Given the description of an element on the screen output the (x, y) to click on. 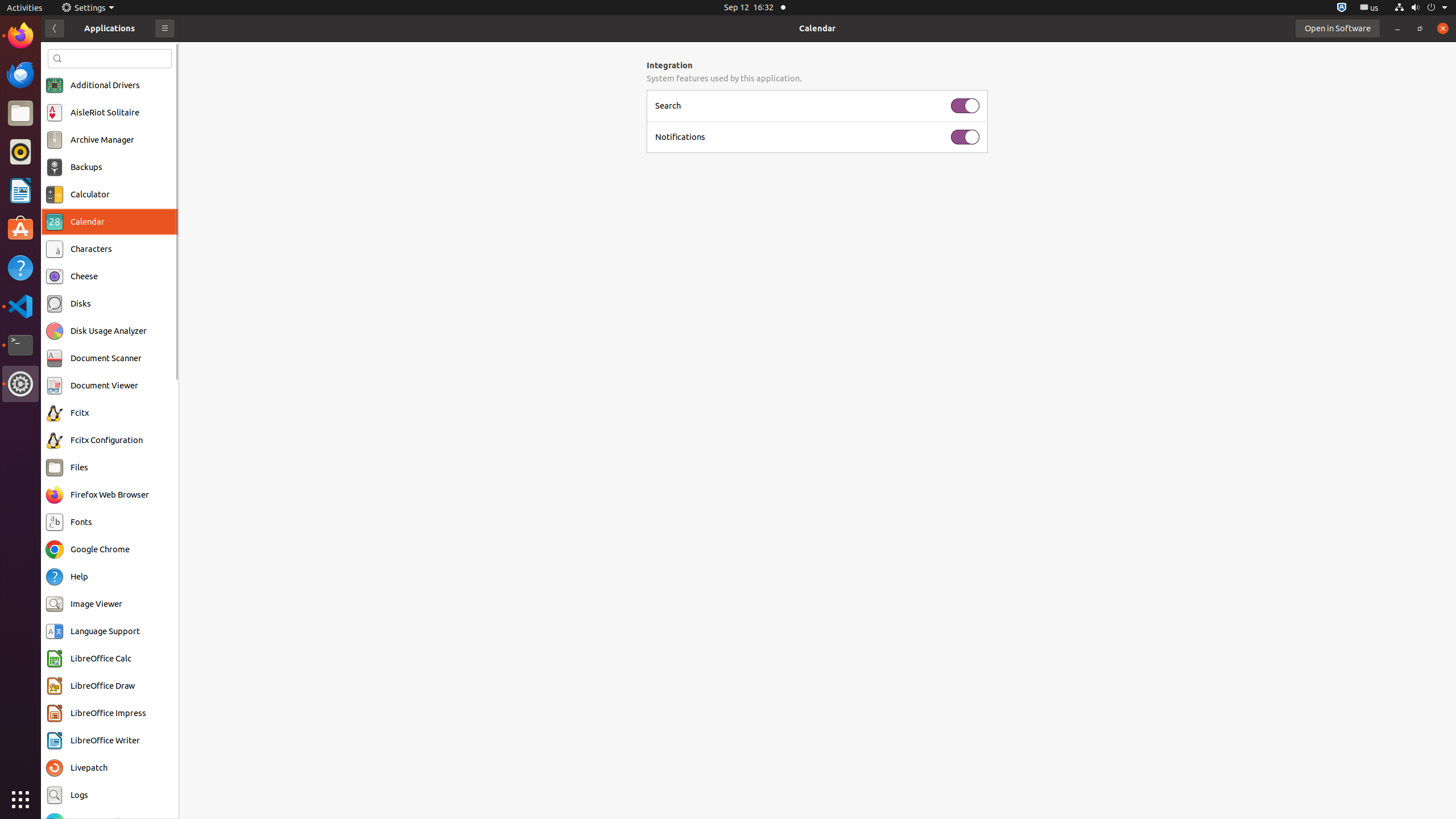
IsaHelpMain.desktop Element type: label (75, 170)
LibreOffice Impress Element type: label (108, 713)
Activities Element type: label (24, 7)
Firefox Web Browser Element type: push-button (20, 35)
Primary Menu Element type: toggle-button (164, 28)
